Given the description of an element on the screen output the (x, y) to click on. 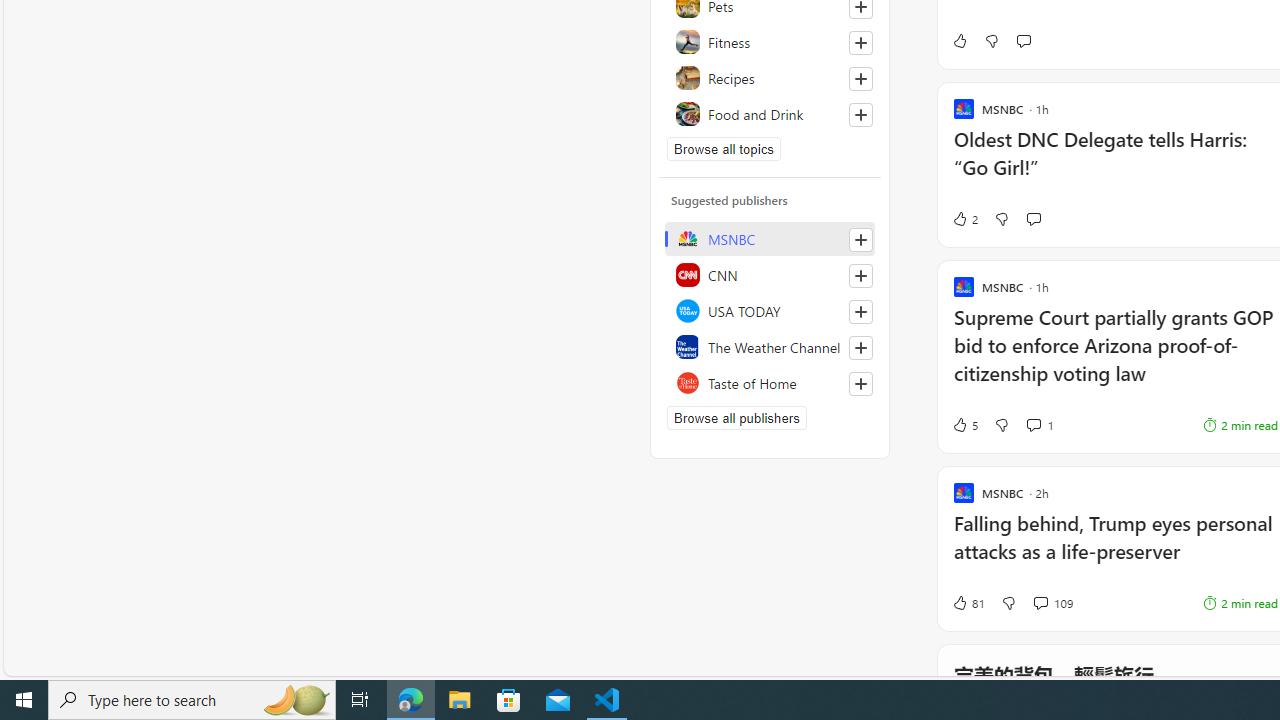
The Weather Channel (770, 346)
View comments 109 Comment (1052, 602)
Recipes (770, 78)
MSNBC (770, 238)
81 Like (968, 602)
View comments 109 Comment (1040, 602)
